Given the description of an element on the screen output the (x, y) to click on. 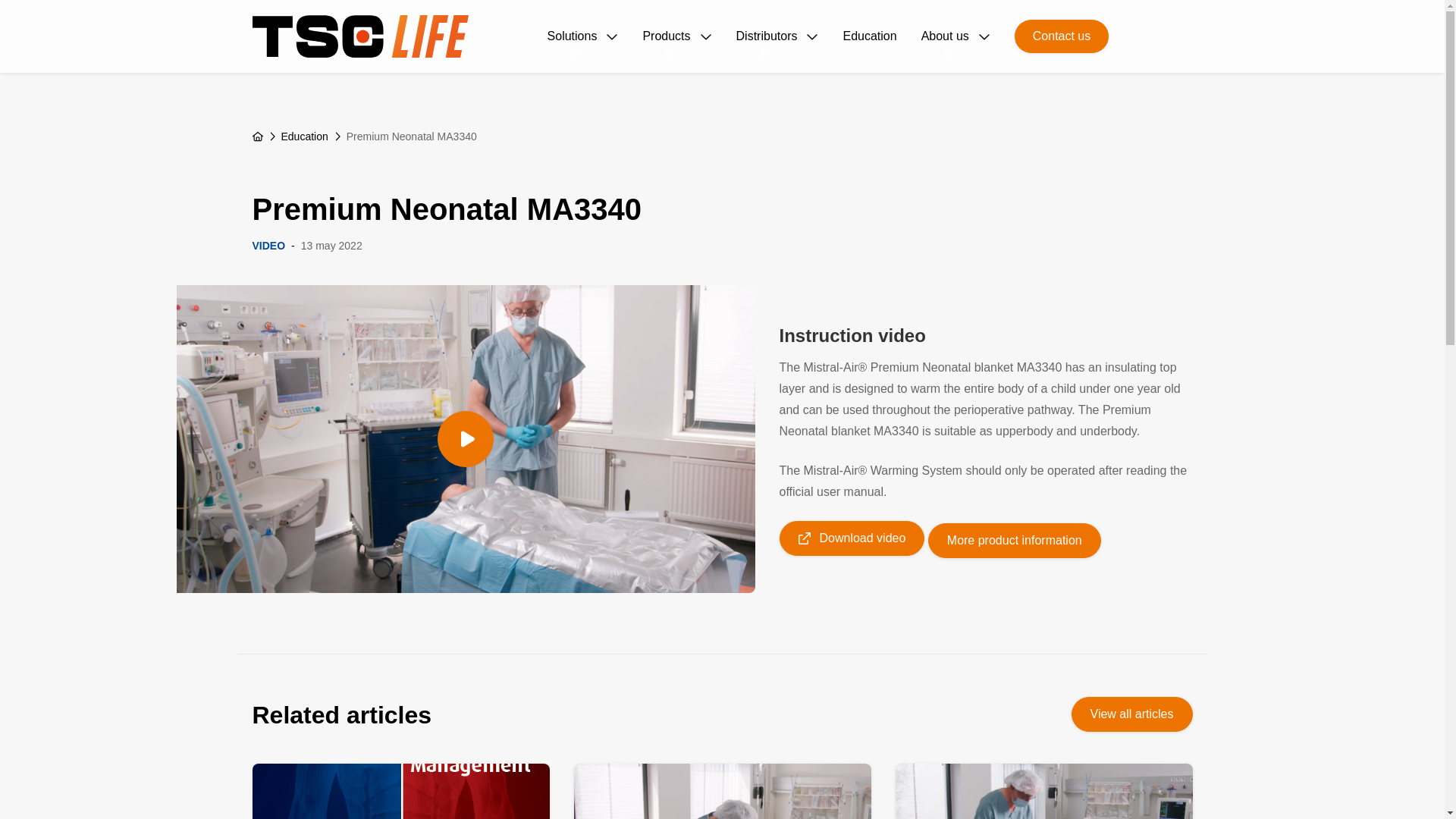
Solutions (582, 36)
Contact us (1061, 36)
Distributors (777, 36)
Products (676, 36)
About us (955, 36)
Education (869, 36)
